Given the description of an element on the screen output the (x, y) to click on. 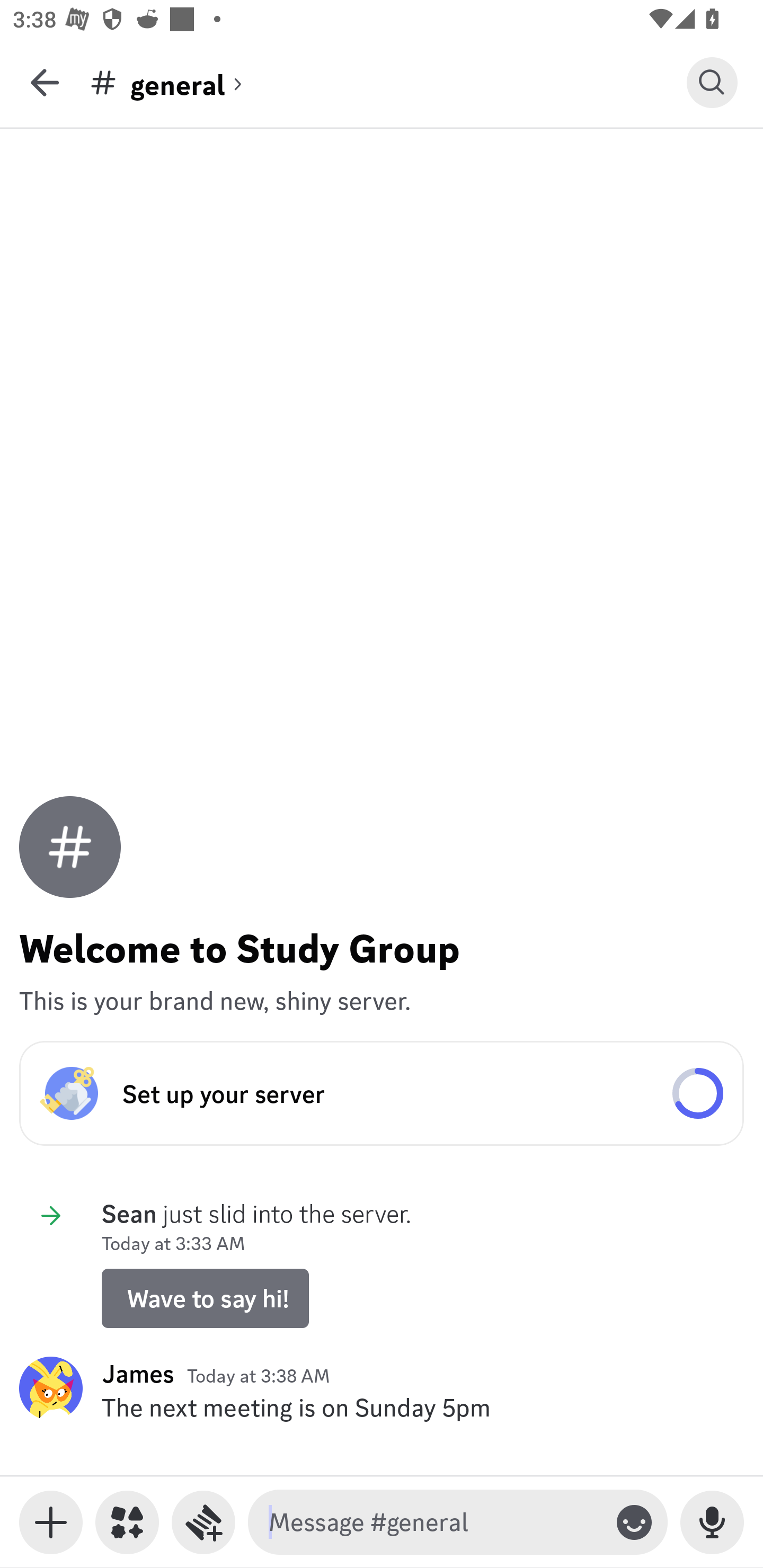
general (channel) general general (channel) (387, 82)
Back (44, 82)
Search (711, 82)
Set up your server (381, 1093)
Wave to say hi! (205, 1298)
James (137, 1373)
Toggle media keyboard (50, 1522)
Apps (126, 1522)
Thread (203, 1522)
Record Voice Message (711, 1522)
Message #general (433, 1522)
Toggle emoji keyboard (634, 1522)
